Given the description of an element on the screen output the (x, y) to click on. 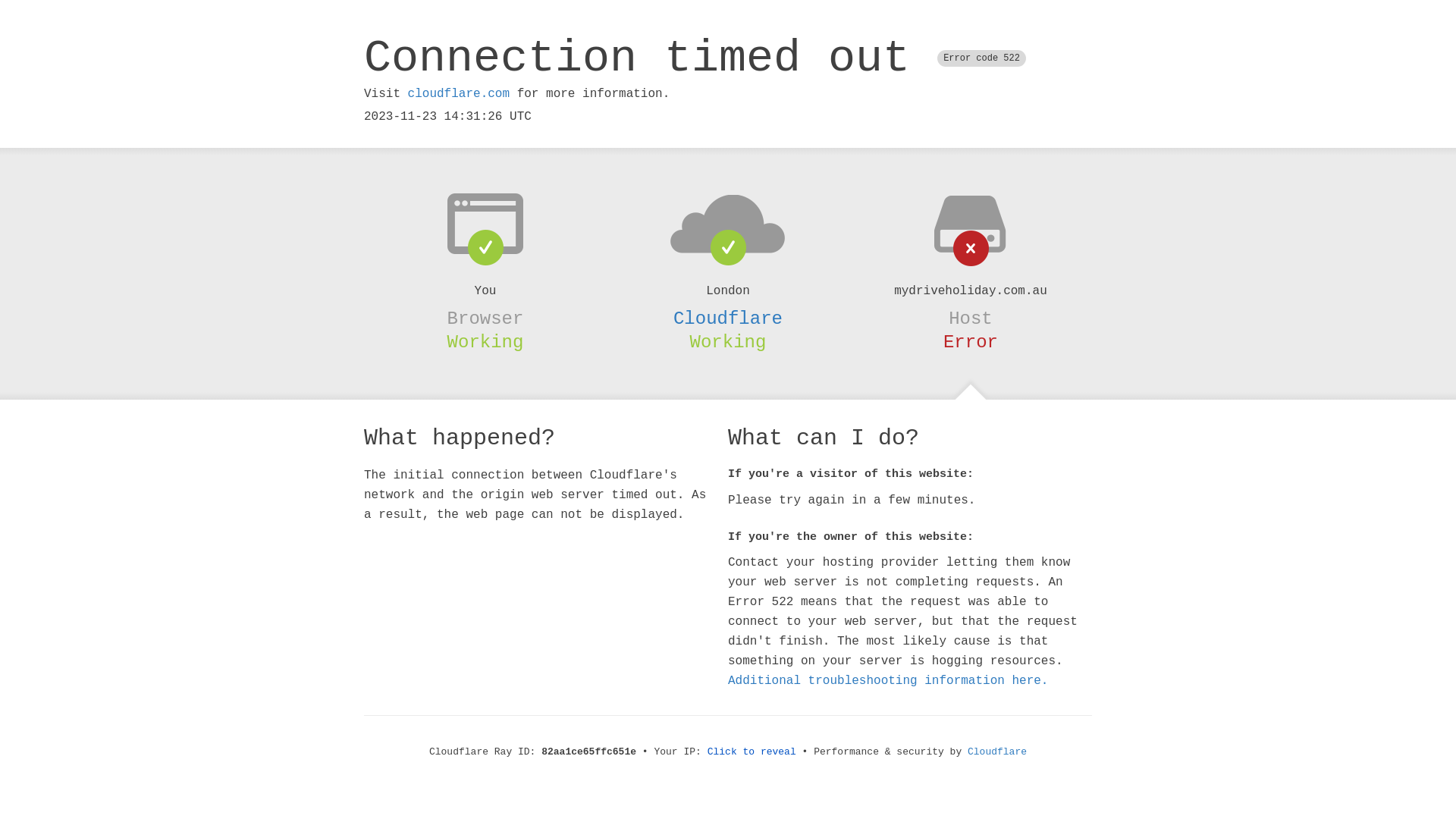
Cloudflare Element type: text (996, 751)
Click to reveal Element type: text (751, 751)
Cloudflare Element type: text (727, 318)
cloudflare.com Element type: text (458, 93)
Additional troubleshooting information here. Element type: text (888, 680)
